Given the description of an element on the screen output the (x, y) to click on. 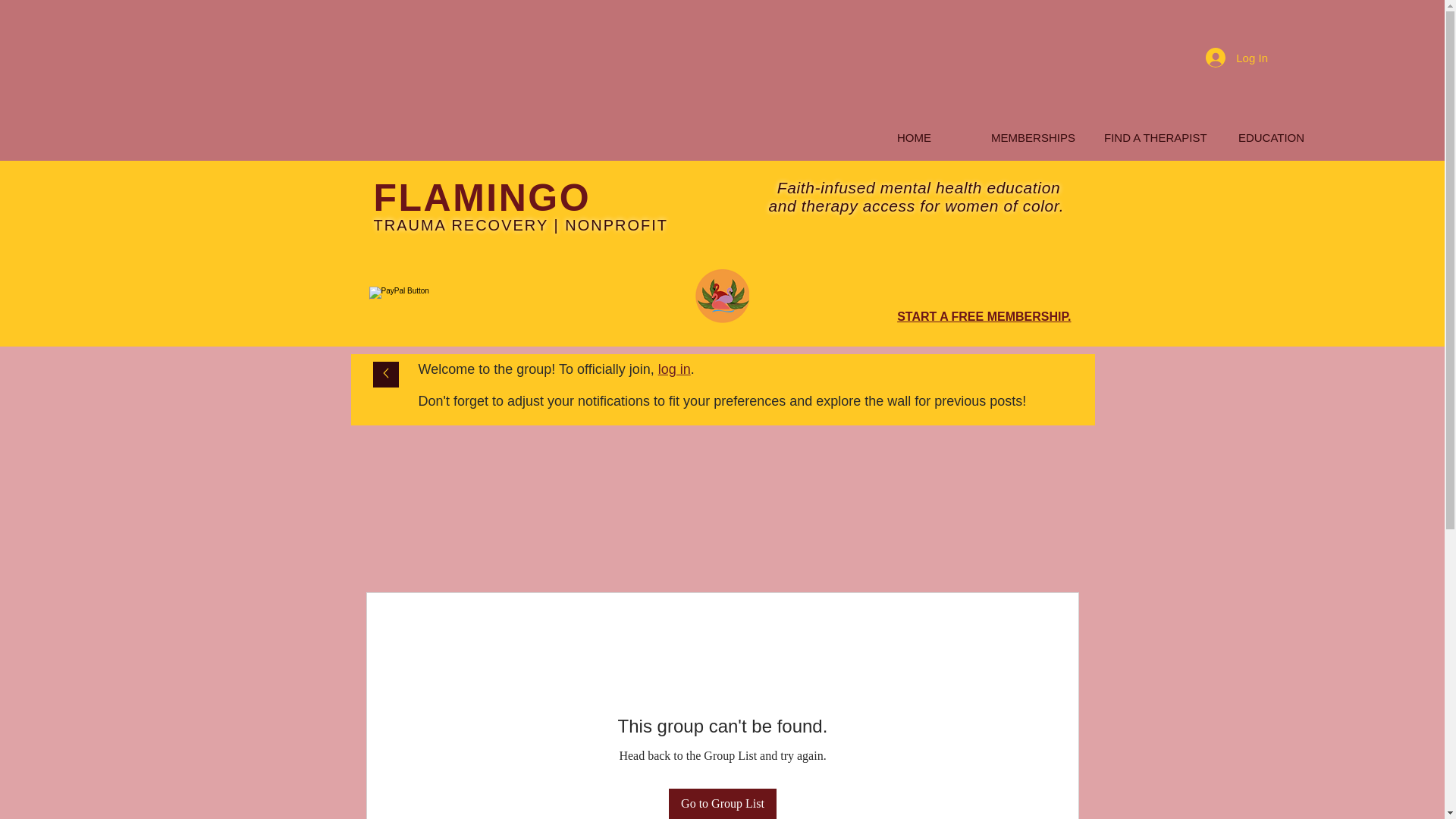
START A FREE MEMBERSHIP. (983, 316)
Go to Group List (722, 803)
MEMBERSHIPS (1033, 137)
FIND A THERAPIST (1152, 137)
EDUCATION (1270, 137)
HOME (914, 137)
log in (674, 368)
Log In (1236, 57)
